Given the description of an element on the screen output the (x, y) to click on. 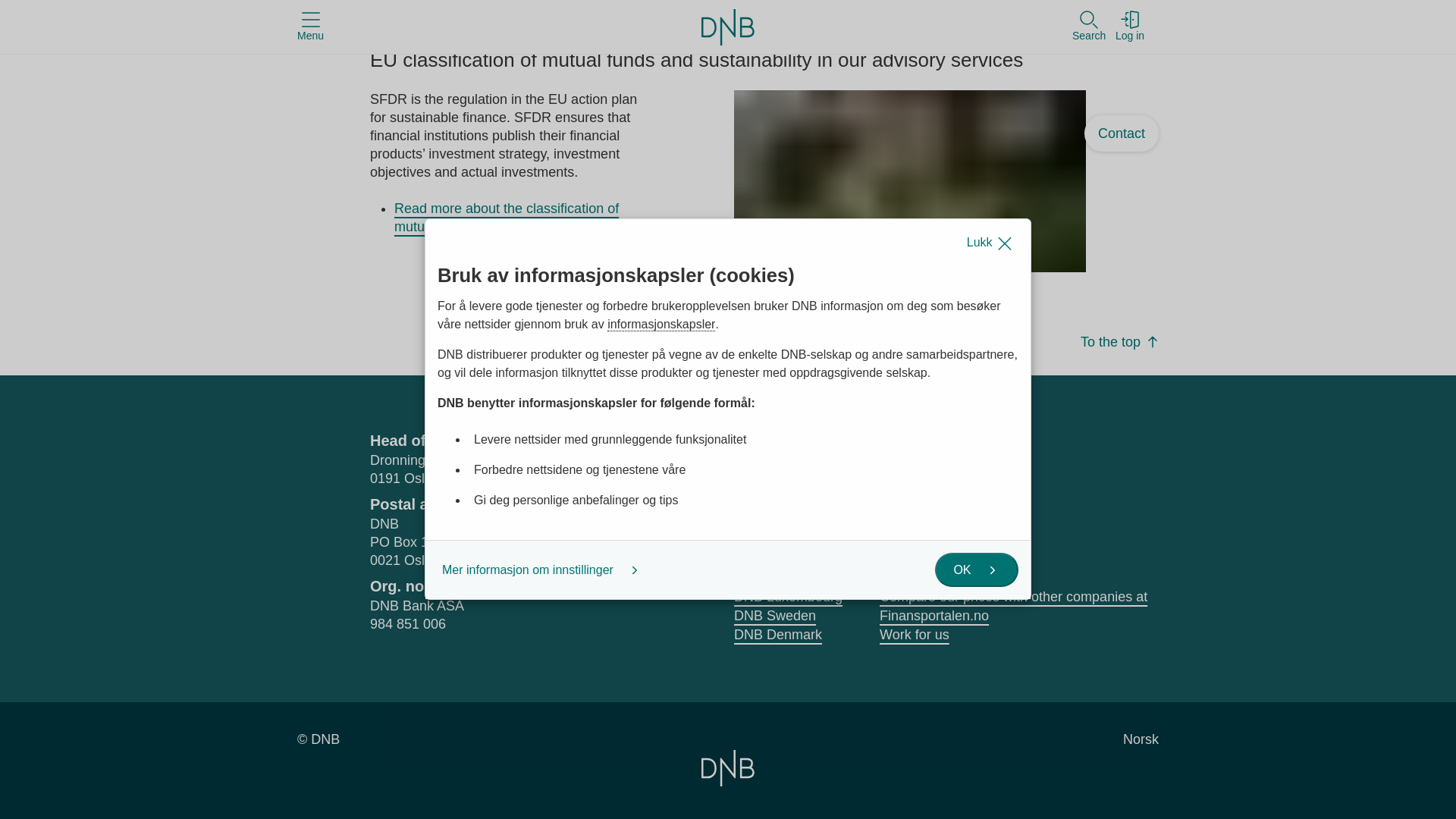
Facebook (891, 469)
Opens a new window (891, 469)
Opens a new window (933, 469)
YouTube (933, 469)
